Given the description of an element on the screen output the (x, y) to click on. 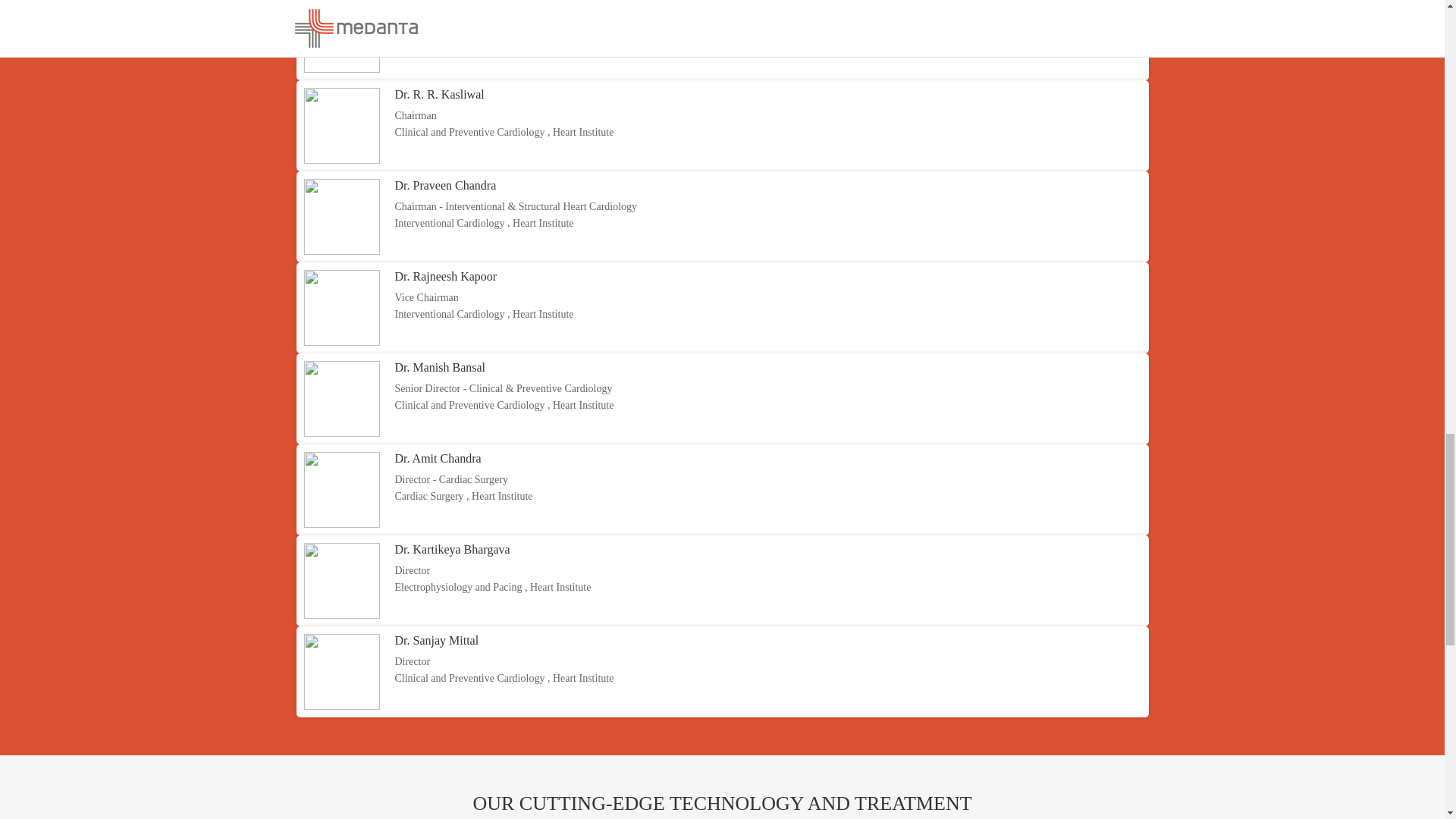
Dr. Amit Chandra (437, 458)
Dr. Rajneesh Kapoor (445, 276)
Dr. R. R. Kasliwal (438, 93)
Dr. Naresh Trehan (438, 4)
Dr. Praveen Chandra (445, 185)
Dr. Manish Bansal (439, 367)
